Given the description of an element on the screen output the (x, y) to click on. 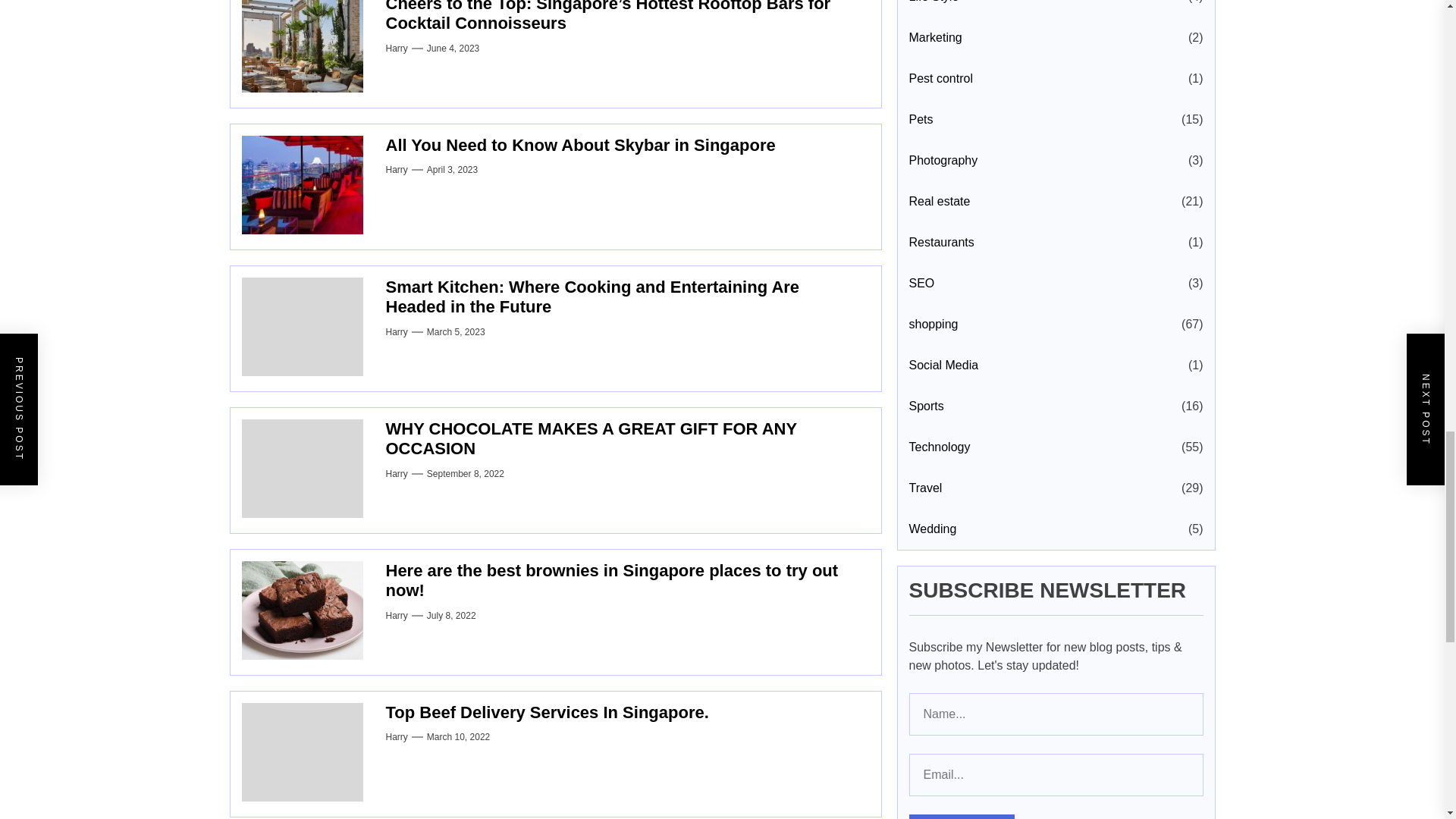
Subscribe (960, 591)
